Given the description of an element on the screen output the (x, y) to click on. 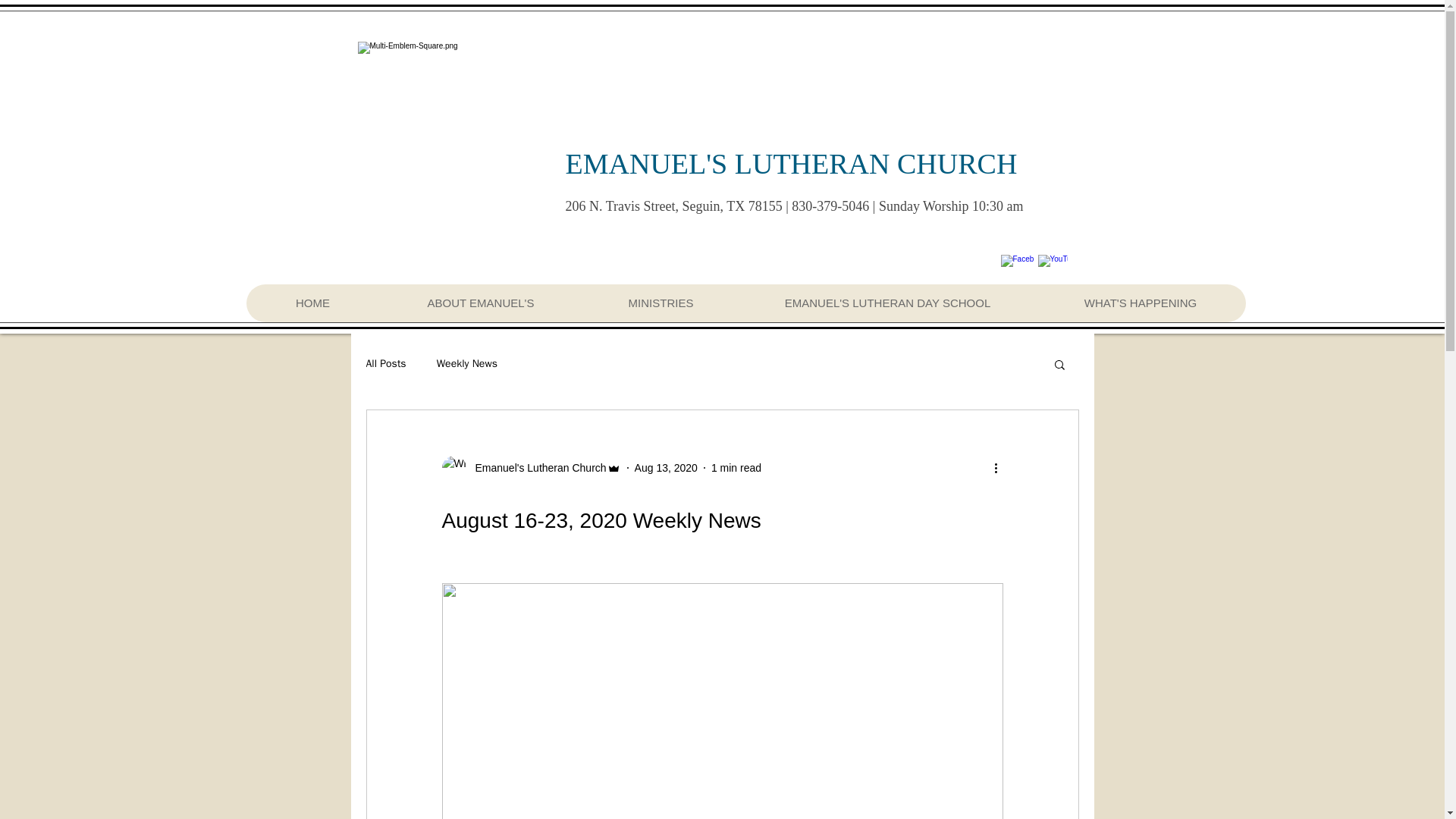
EMANUEL'S LUTHERAN DAY SCHOOL (887, 303)
Weekly News (466, 364)
MINISTRIES (659, 303)
All Posts (385, 364)
1 min read (736, 467)
ABOUT EMANUEL'S (479, 303)
HOME (312, 303)
Aug 13, 2020 (665, 467)
Emanuel's Lutheran Church (530, 467)
Emanuel's Lutheran Church (535, 467)
